Given the description of an element on the screen output the (x, y) to click on. 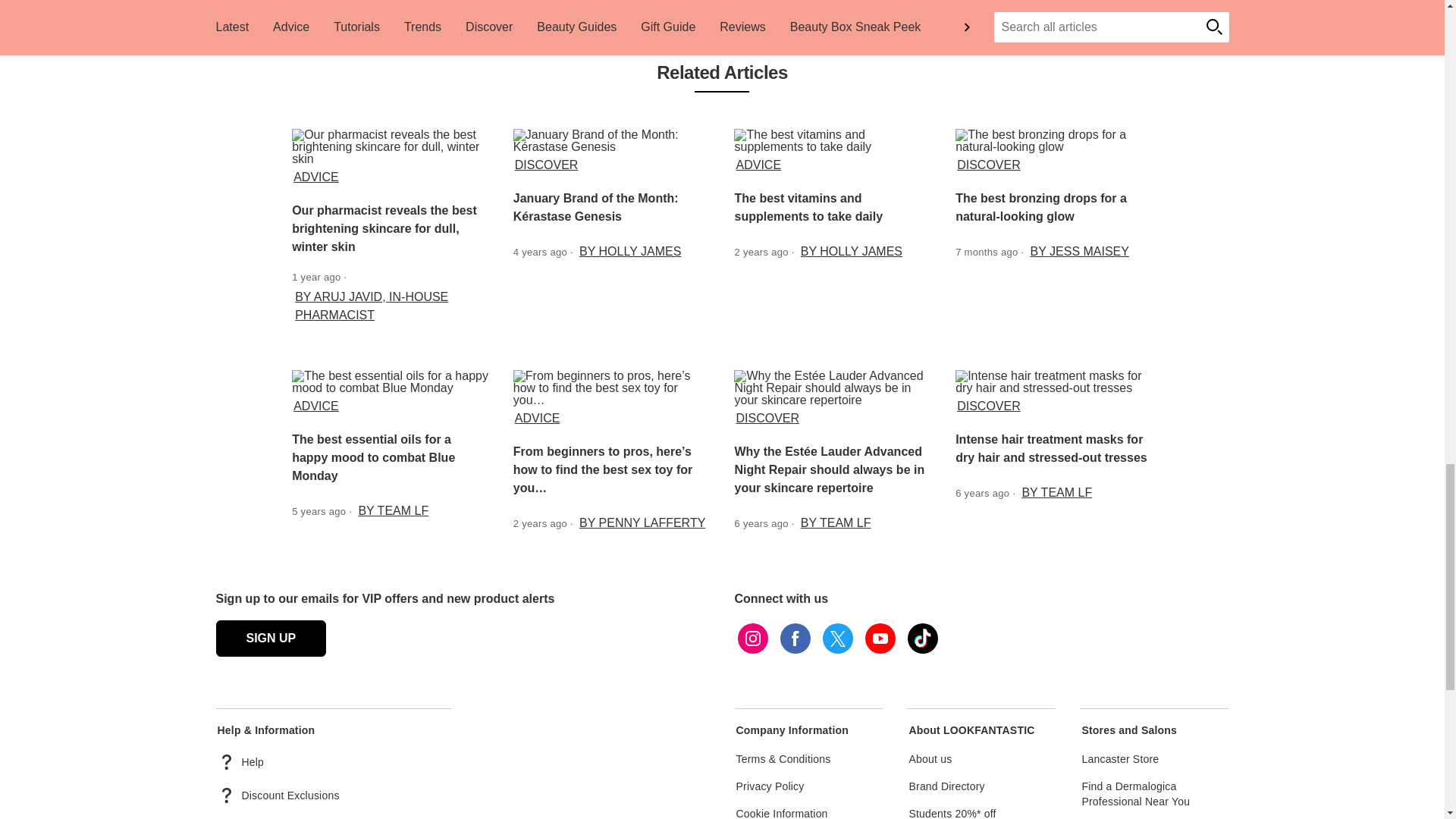
youtube (879, 637)
facebook (794, 637)
twitter (837, 637)
instagram (751, 637)
